Given the description of an element on the screen output the (x, y) to click on. 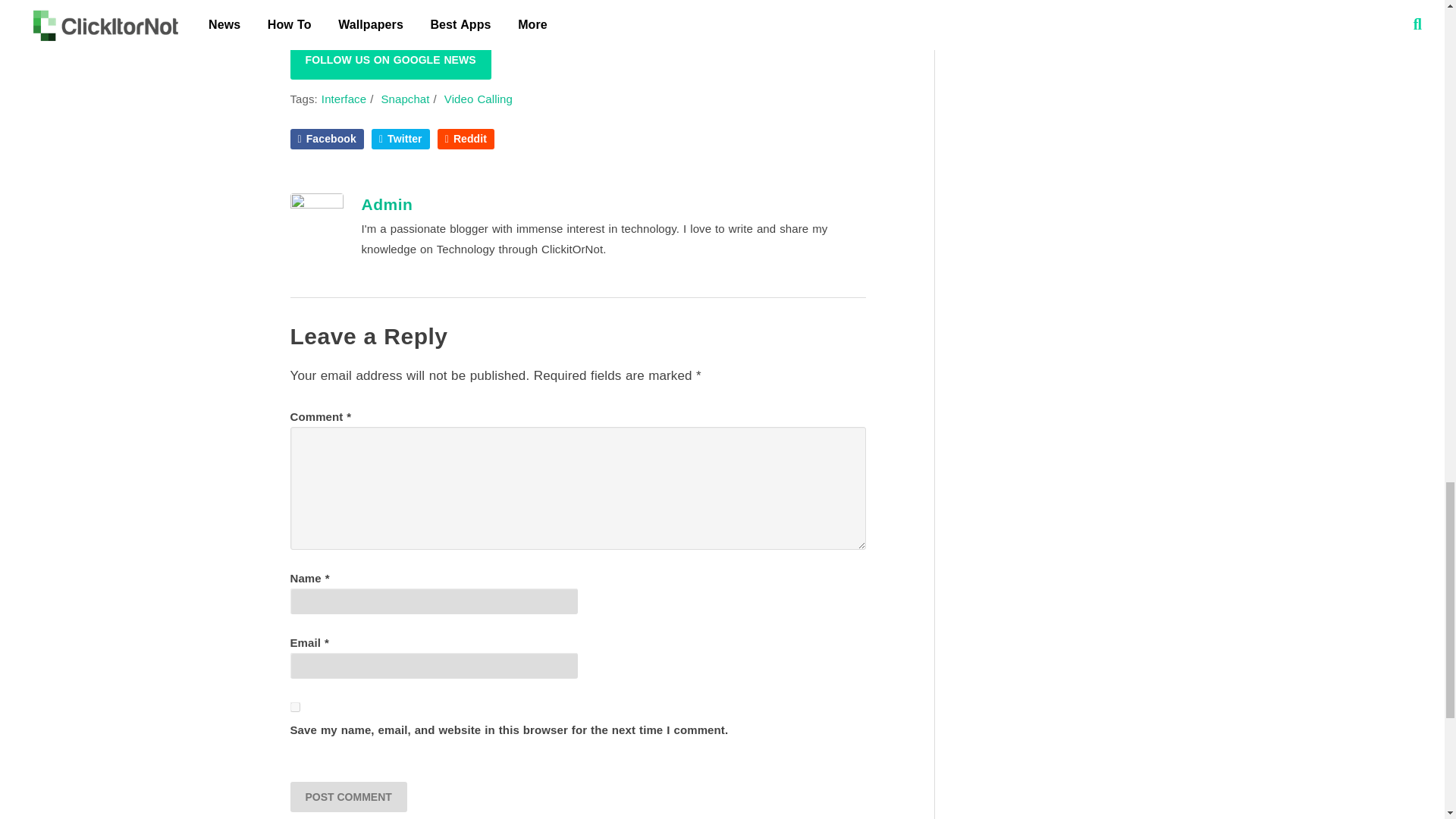
FOLLOW US ON GOOGLE NEWS (389, 59)
Twitter (400, 138)
Admin (386, 203)
yes (294, 706)
Facebook (325, 138)
Post Comment (347, 797)
Reddit (466, 138)
Interface (343, 98)
Snapchat (404, 98)
Video Calling (478, 98)
Post Comment (347, 797)
